Given the description of an element on the screen output the (x, y) to click on. 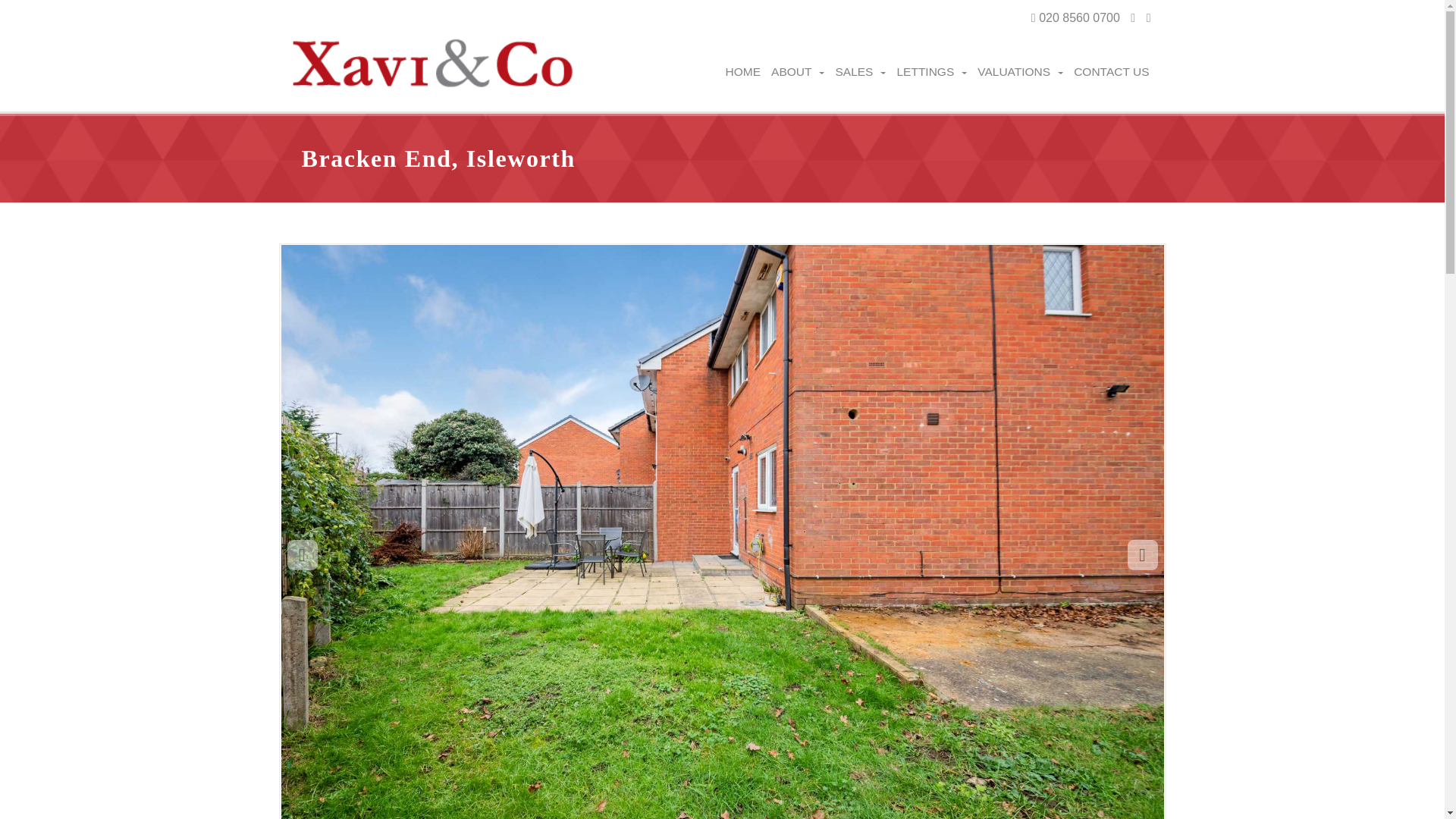
LETTINGS (931, 71)
VALUATIONS (1020, 71)
CONTACT US (1111, 71)
020 8560 0700 (1074, 17)
Call Us (1074, 17)
